Given the description of an element on the screen output the (x, y) to click on. 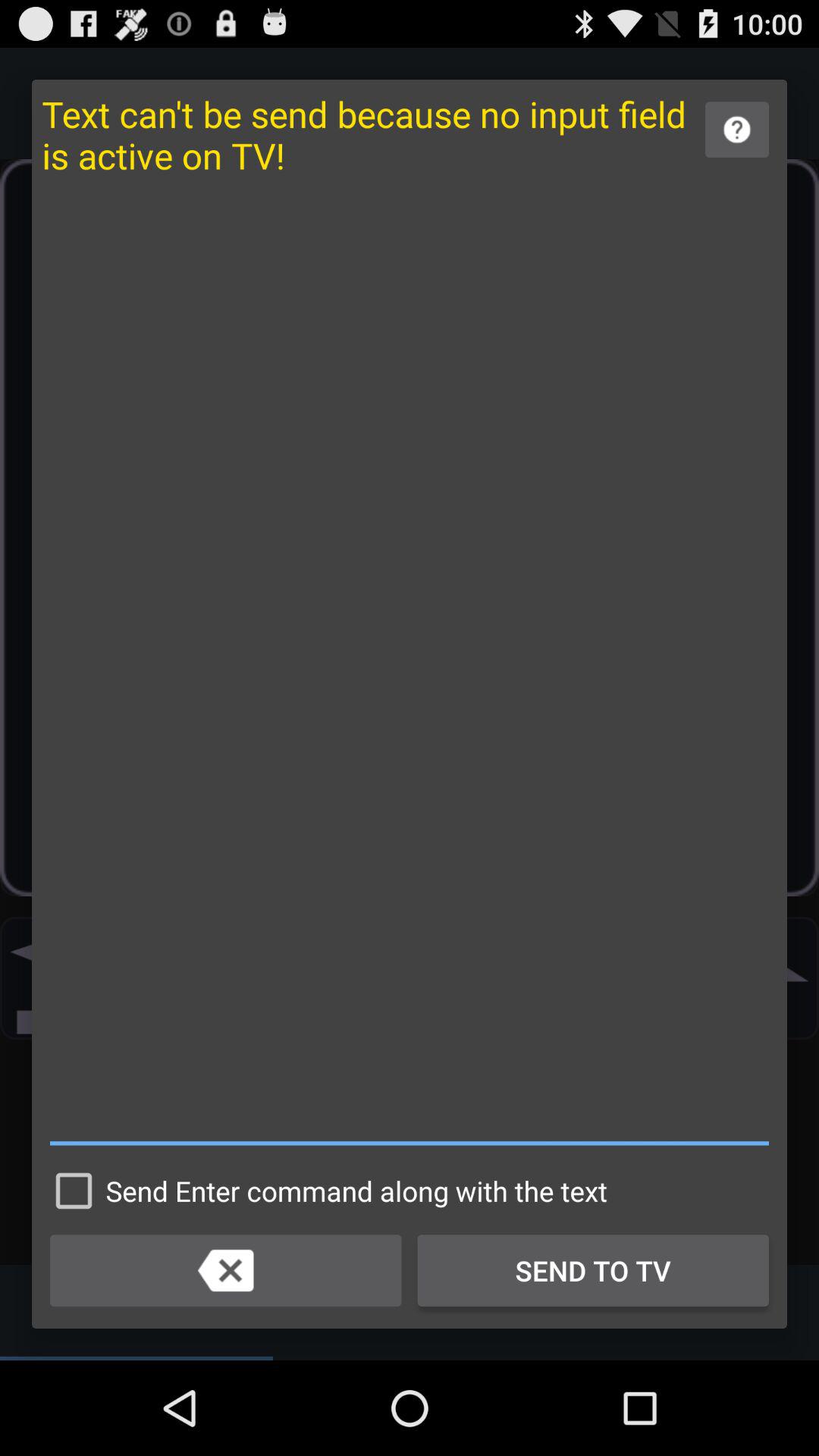
choose the icon below the send enter command icon (225, 1270)
